Given the description of an element on the screen output the (x, y) to click on. 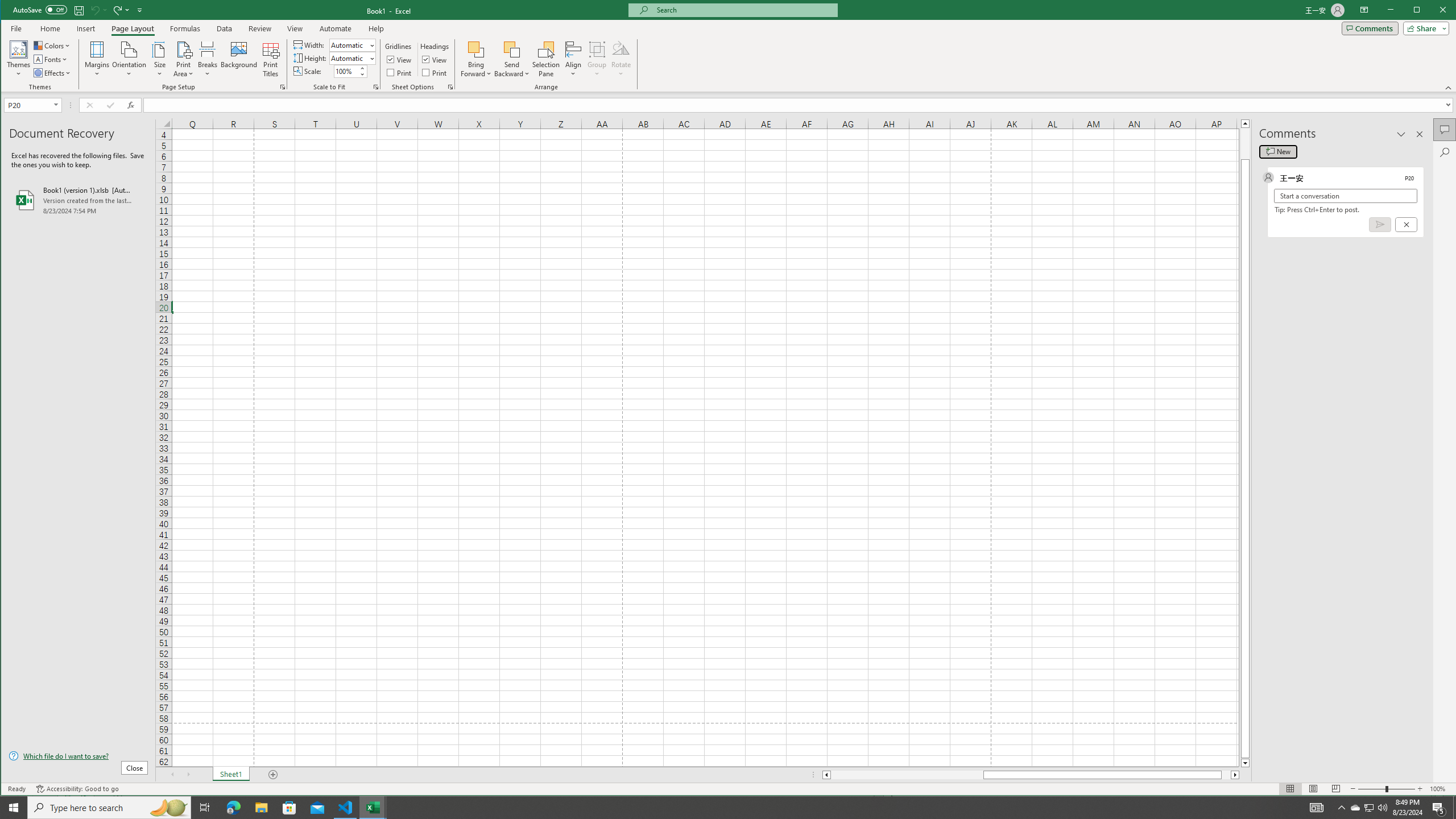
Margins (96, 59)
Print (434, 72)
Microsoft Store (289, 807)
Width (349, 45)
Size (159, 59)
Q2790: 100% (1382, 807)
